Given the description of an element on the screen output the (x, y) to click on. 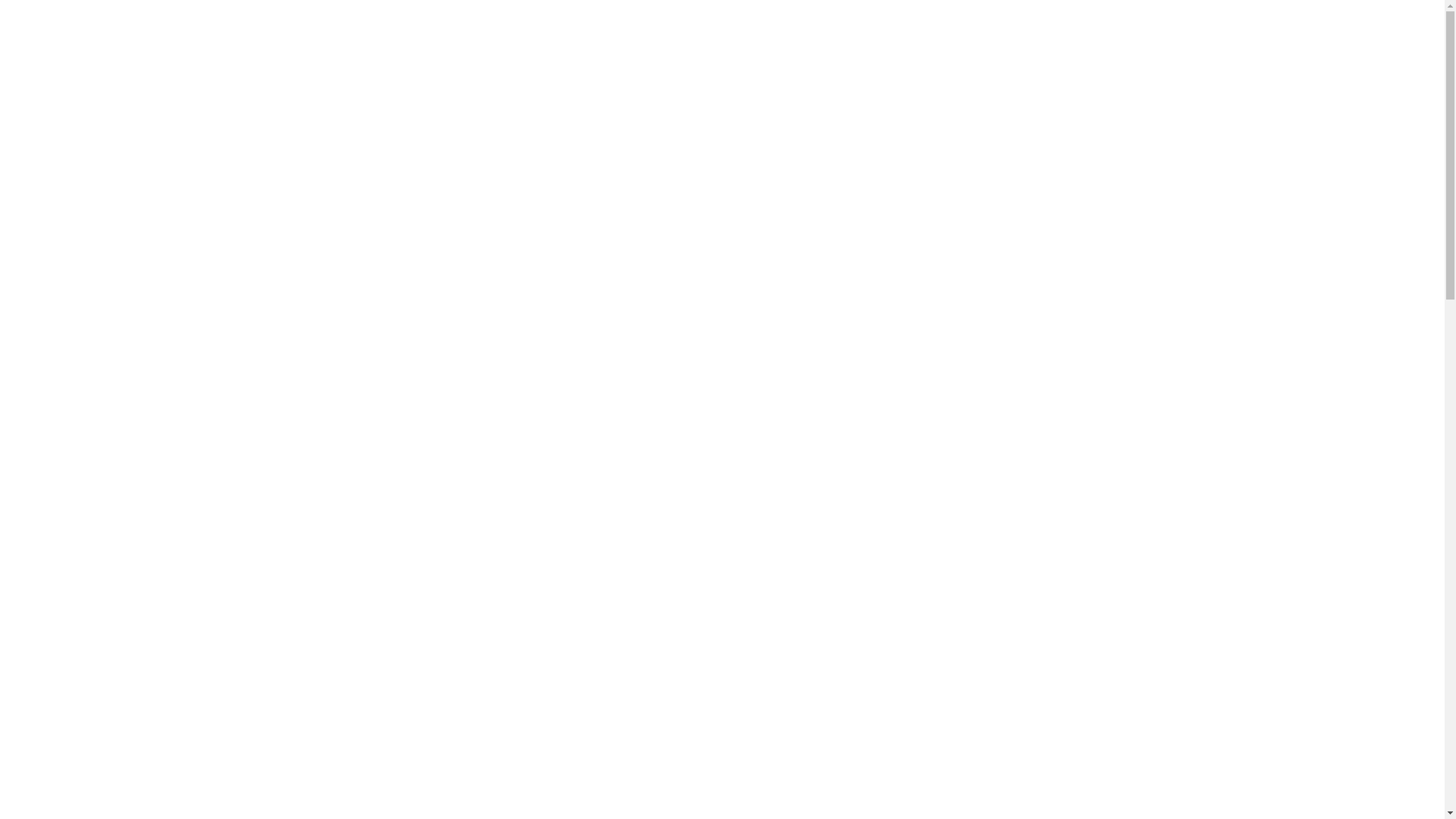
A WordPress Commenter Element type: text (1043, 166)
Nature Element type: text (986, 490)
Entries feed Element type: text (1002, 763)
Home Element type: text (742, 46)
Hotels + Resturants Element type: text (392, 300)
Residences Element type: text (805, 46)
Log in Element type: text (985, 732)
Apartments + Complexes Element type: text (1035, 46)
Landscapes Element type: text (1003, 459)
CRD Element type: text (322, 44)
Hotels + Restaurants Element type: text (903, 46)
March 2018 Element type: text (1002, 308)
Apartments + Complexes Element type: text (806, 300)
About Element type: text (1130, 46)
March 2015 Element type: text (1002, 340)
Work Element type: text (982, 612)
Residences Element type: text (599, 301)
Uncategorized Element type: text (1010, 581)
Comments feed Element type: text (1014, 793)
Technology Element type: text (1000, 551)
Science Element type: text (990, 520)
Hello world! Element type: text (1002, 189)
